Given the description of an element on the screen output the (x, y) to click on. 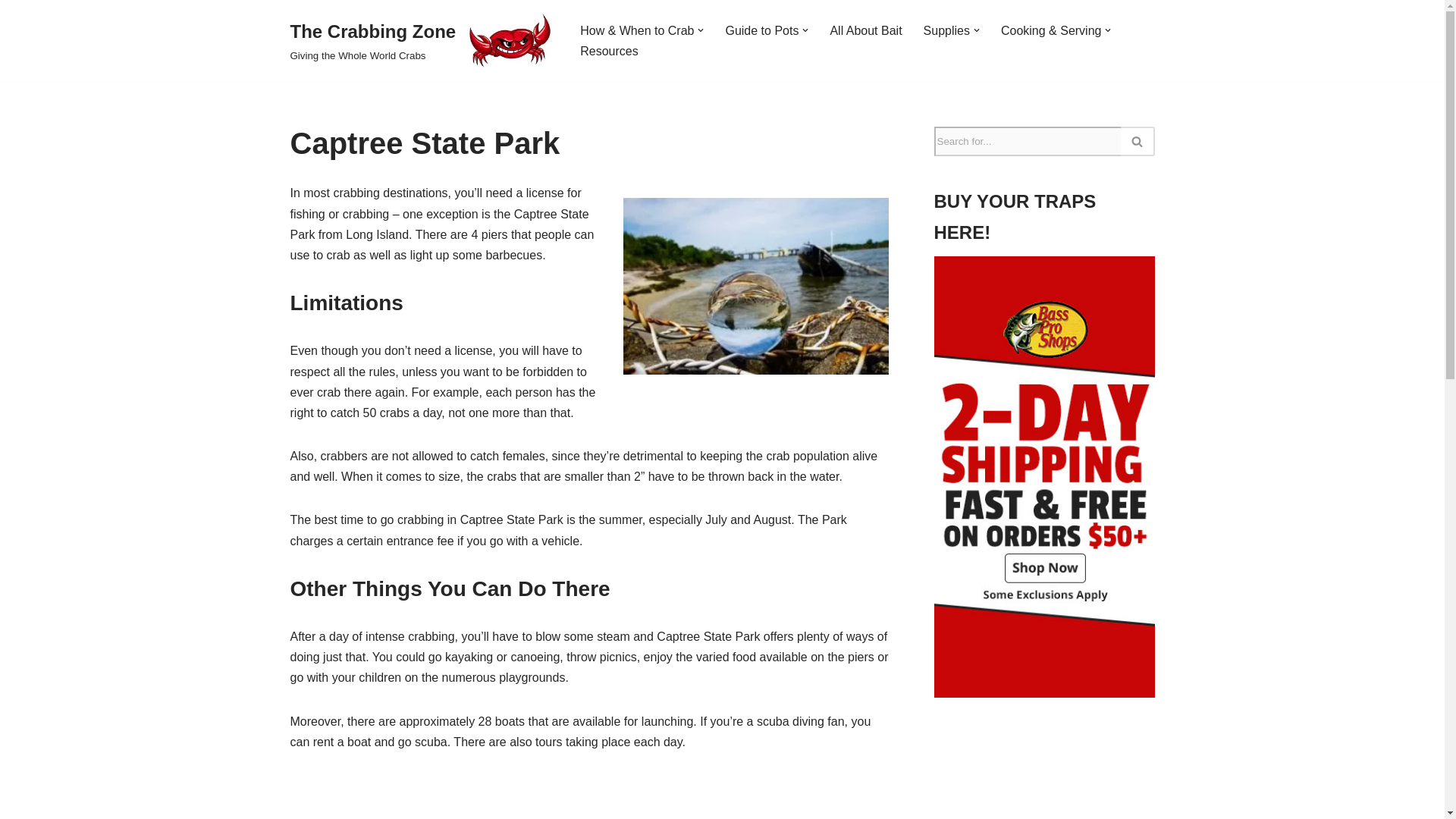
Crabbing the fun way. At Captree State Park Long Island (588, 796)
All About Bait (865, 30)
Resources (608, 50)
Supplies (421, 40)
Guide to Pots (946, 30)
Skip to content (761, 30)
